Given the description of an element on the screen output the (x, y) to click on. 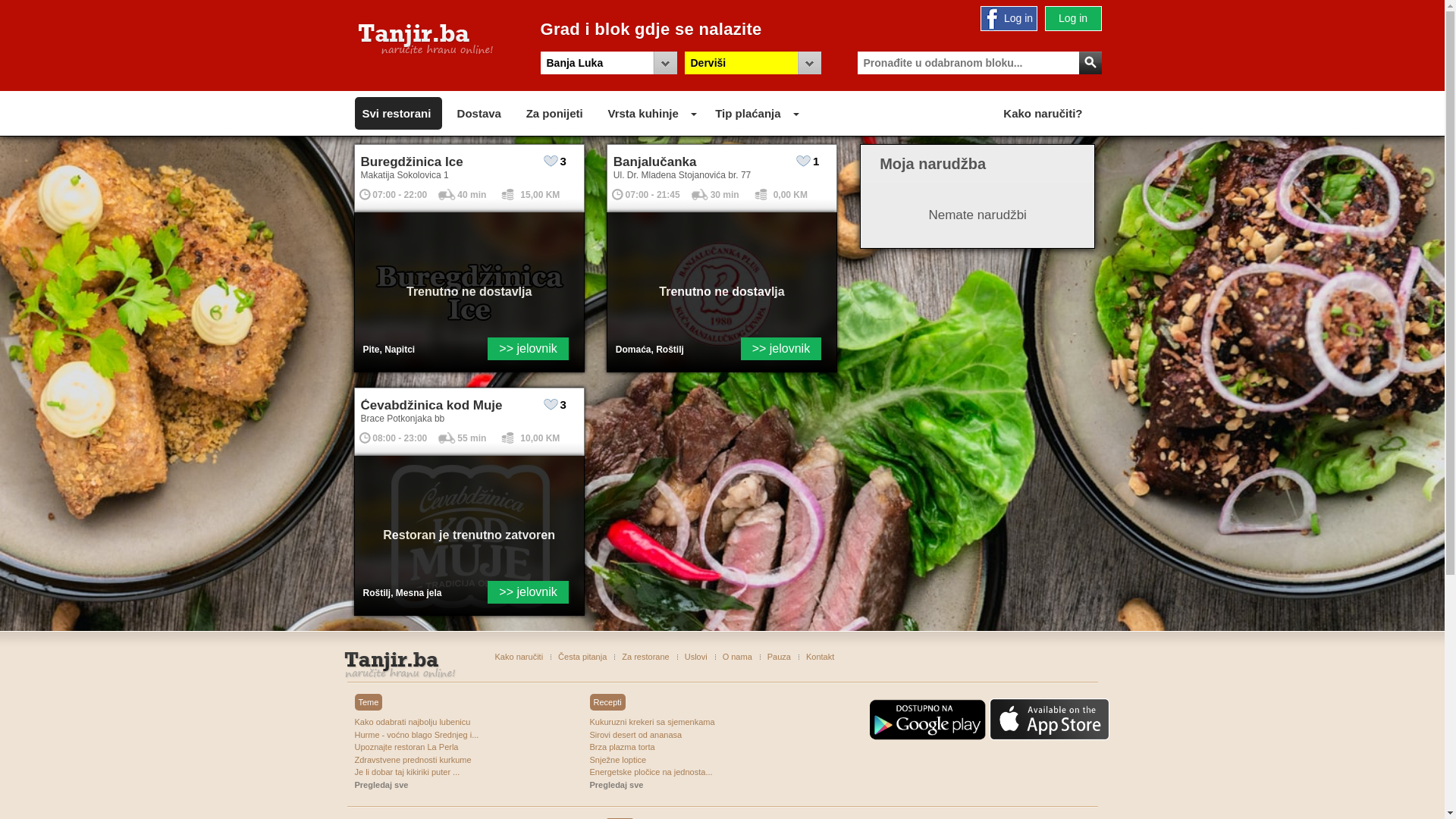
Kukuruzni krekeri sa sjemenkama Element type: text (665, 721)
>> jelovnik Element type: text (404, 667)
Vrsta kuhinje Element type: text (642, 113)
O nama Element type: text (737, 656)
Pregledaj sve Element type: text (665, 784)
Brza plazma torta Element type: text (665, 746)
Log in Element type: text (1007, 18)
Svi restorani Element type: text (396, 113)
Kako odabrati najbolju lubenicu Element type: text (430, 721)
Uslovi Element type: text (695, 656)
Sirovi desert od ananasa Element type: text (665, 734)
Log in Element type: text (1072, 17)
Dostava Element type: text (478, 113)
Npr. Pizza Element type: hover (976, 62)
Vrijeme dostave restorana Element type: hover (617, 194)
Tanjir.ba Element type: text (425, 40)
Za ponijeti Element type: text (554, 113)
Zdravstvene prednosti kurkume Element type: text (430, 759)
Upoznajte restoran La Perla Element type: text (430, 746)
Vrijeme isporuke restorana Element type: hover (700, 194)
Pauza Element type: text (778, 656)
Kontakt Element type: text (820, 656)
Vrijeme dostave restorana Element type: hover (364, 194)
Pregledaj sve Element type: text (430, 784)
Za restorane Element type: text (644, 656)
Vrijeme isporuke restorana Element type: hover (446, 194)
Vrijeme isporuke restorana Element type: hover (446, 437)
Vrijeme dostave restorana Element type: hover (364, 437)
Je li dobar taj kikiriki puter ... Element type: text (430, 771)
